Given the description of an element on the screen output the (x, y) to click on. 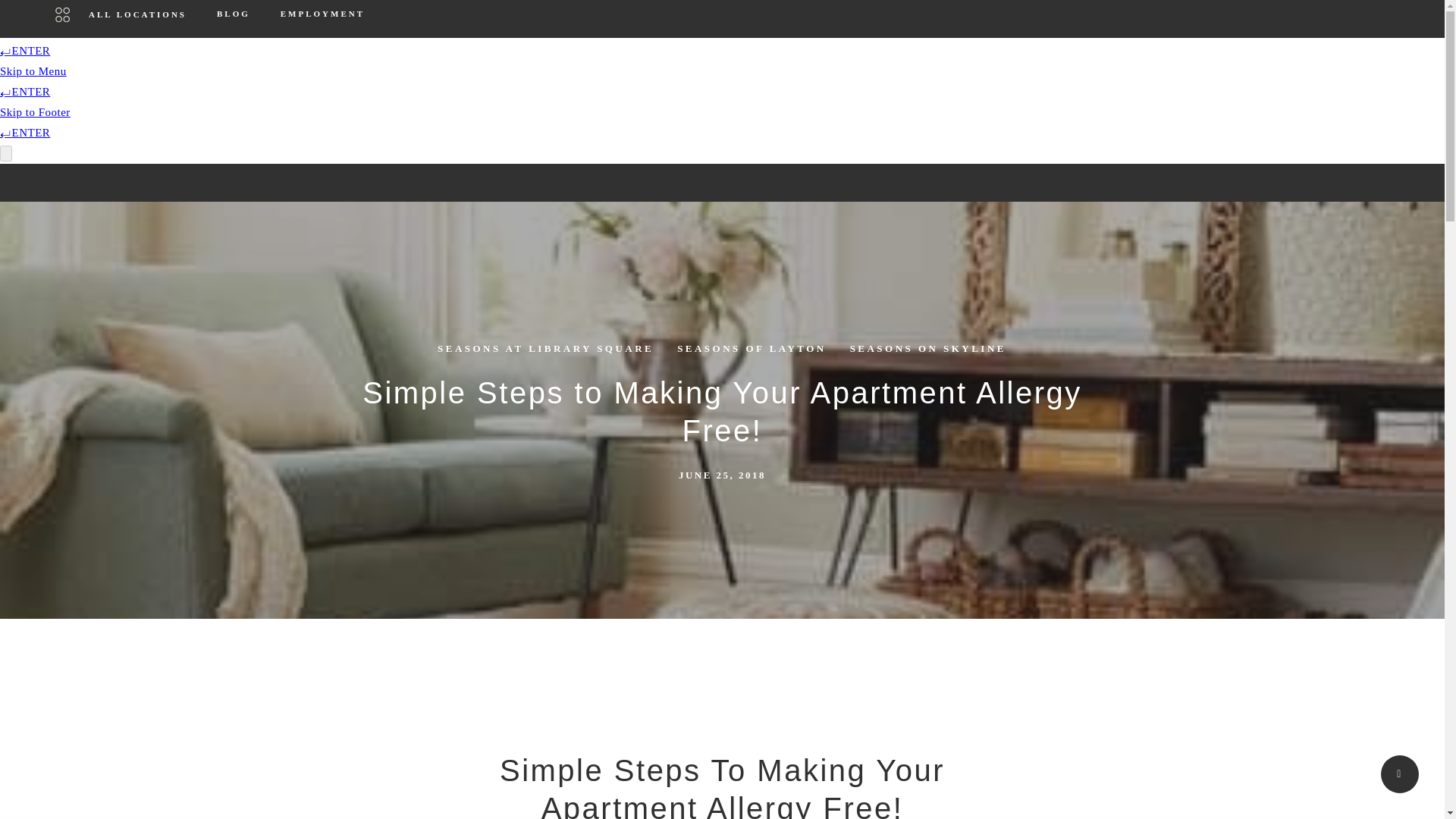
SEASONS OF LAYTON (751, 348)
SEASONS AT LIBRARY SQUARE (545, 348)
EMPLOYMENT (322, 21)
SEASONS ON SKYLINE (928, 348)
ALL LOCATIONS (121, 21)
BLOG (233, 21)
